Given the description of an element on the screen output the (x, y) to click on. 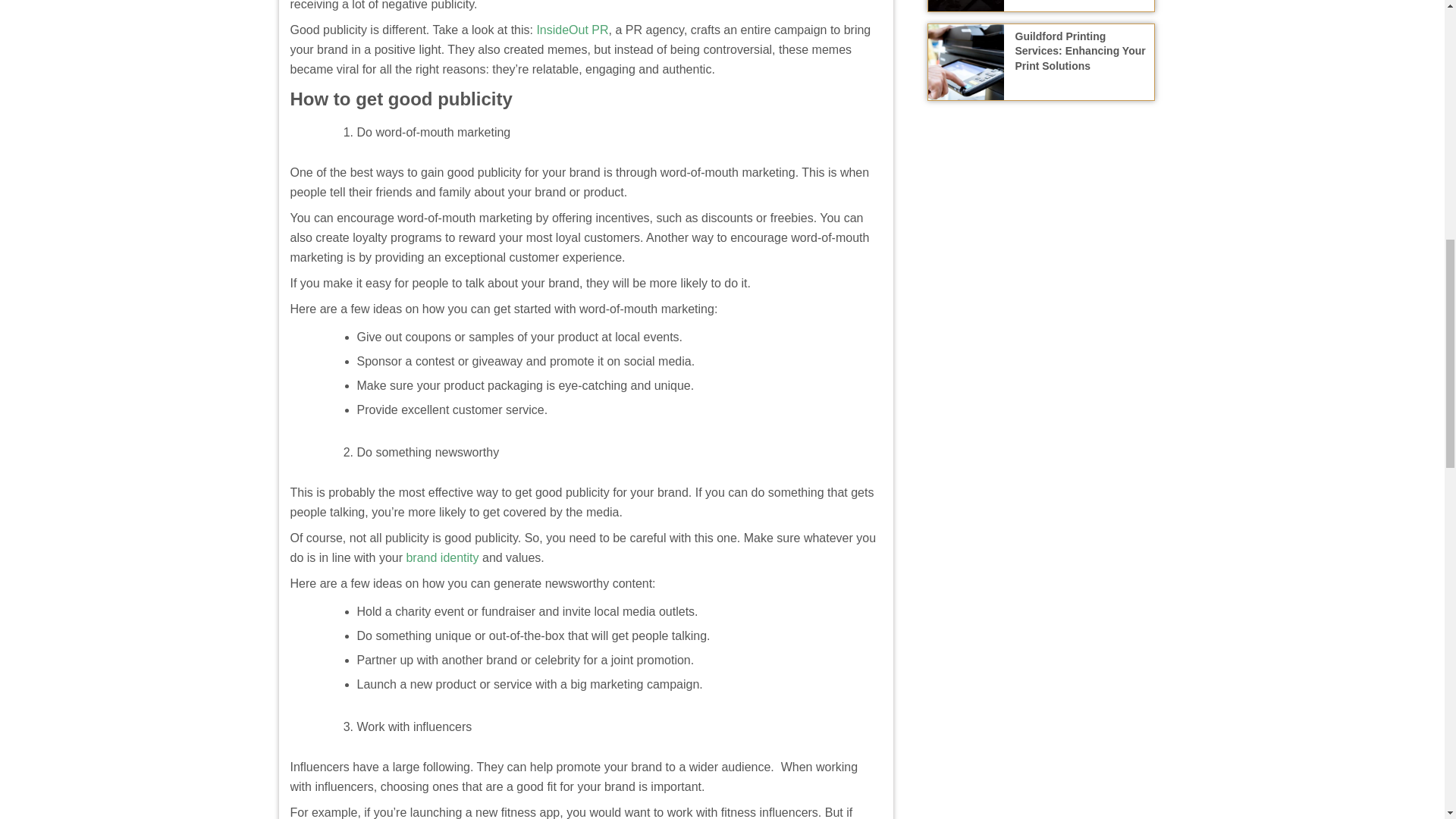
brand identity (442, 557)
Guildford Printing Services: Enhancing Your Print Solutions (1079, 50)
InsideOut PR (571, 29)
